Given the description of an element on the screen output the (x, y) to click on. 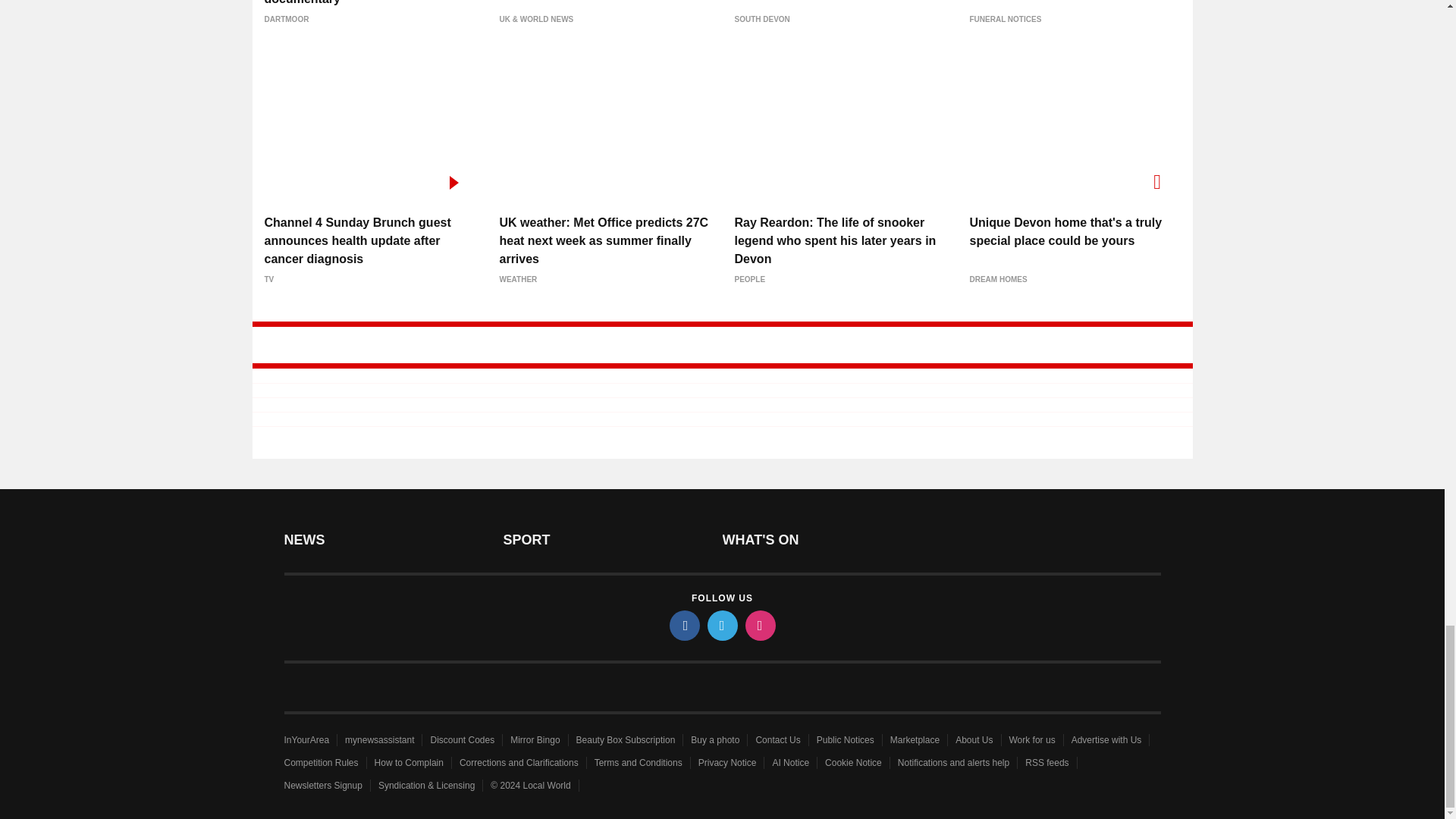
instagram (759, 625)
facebook (683, 625)
twitter (721, 625)
